Given the description of an element on the screen output the (x, y) to click on. 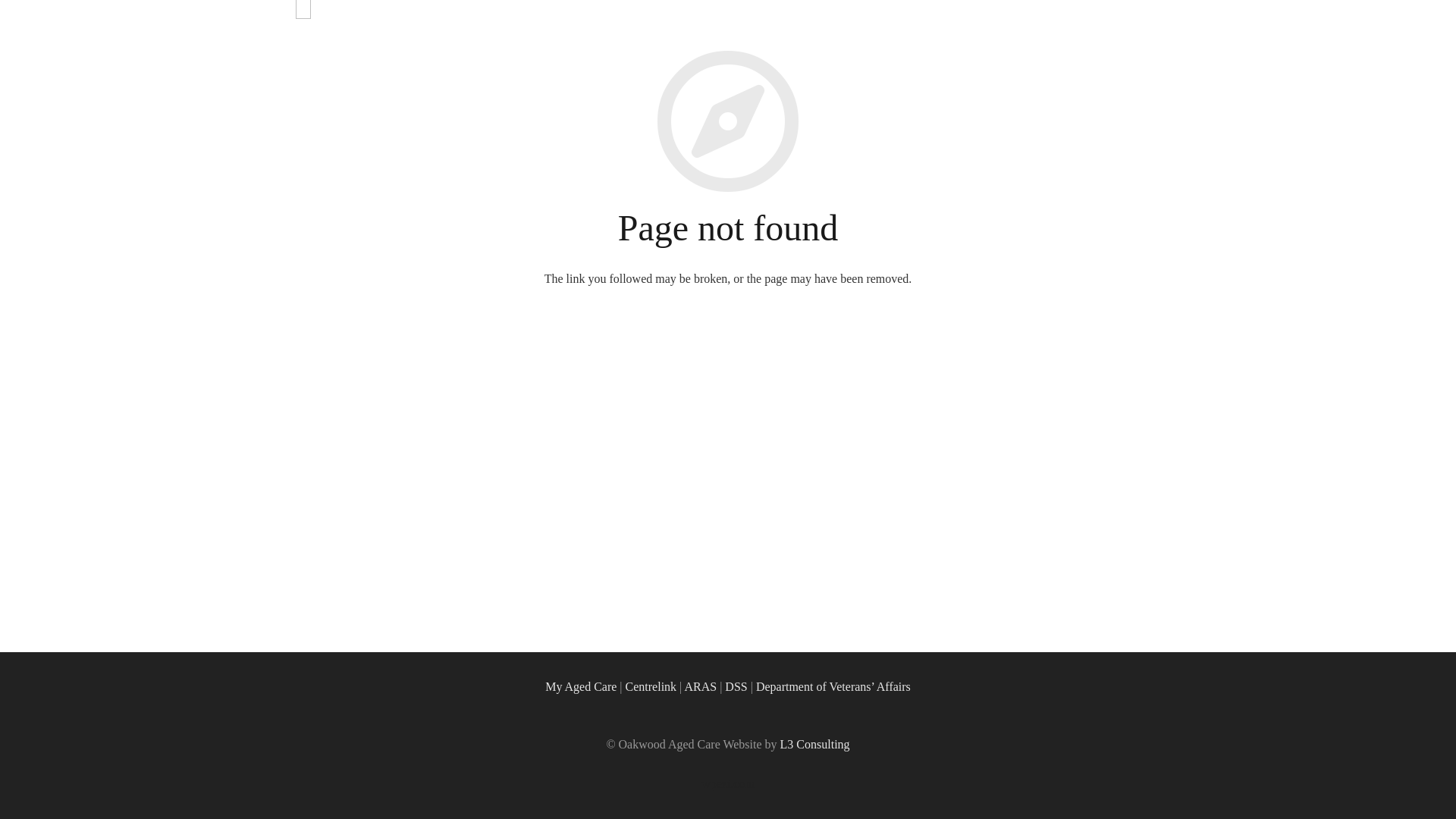
ARAS Element type: text (700, 686)
L3 Consulting Element type: text (815, 743)
DSS Element type: text (735, 686)
wpezi.com Element type: text (727, 783)
Centrelink Element type: text (651, 686)
My Aged Care Element type: text (580, 686)
